Given the description of an element on the screen output the (x, y) to click on. 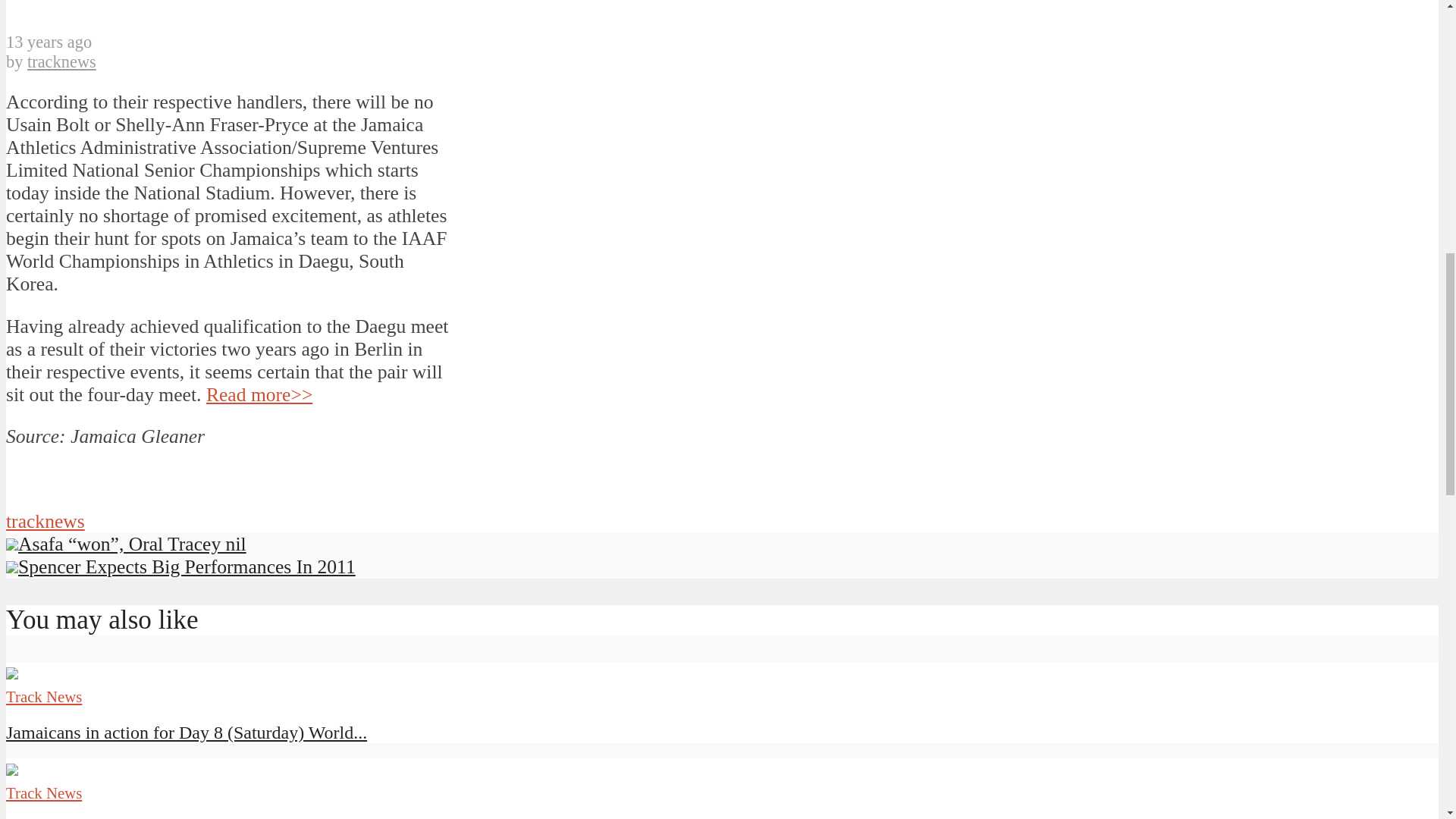
tracknews (44, 521)
Spencer Expects Big Performances In 2011 (180, 567)
Track News (43, 792)
tracknews (61, 61)
Track News (43, 696)
